Given the description of an element on the screen output the (x, y) to click on. 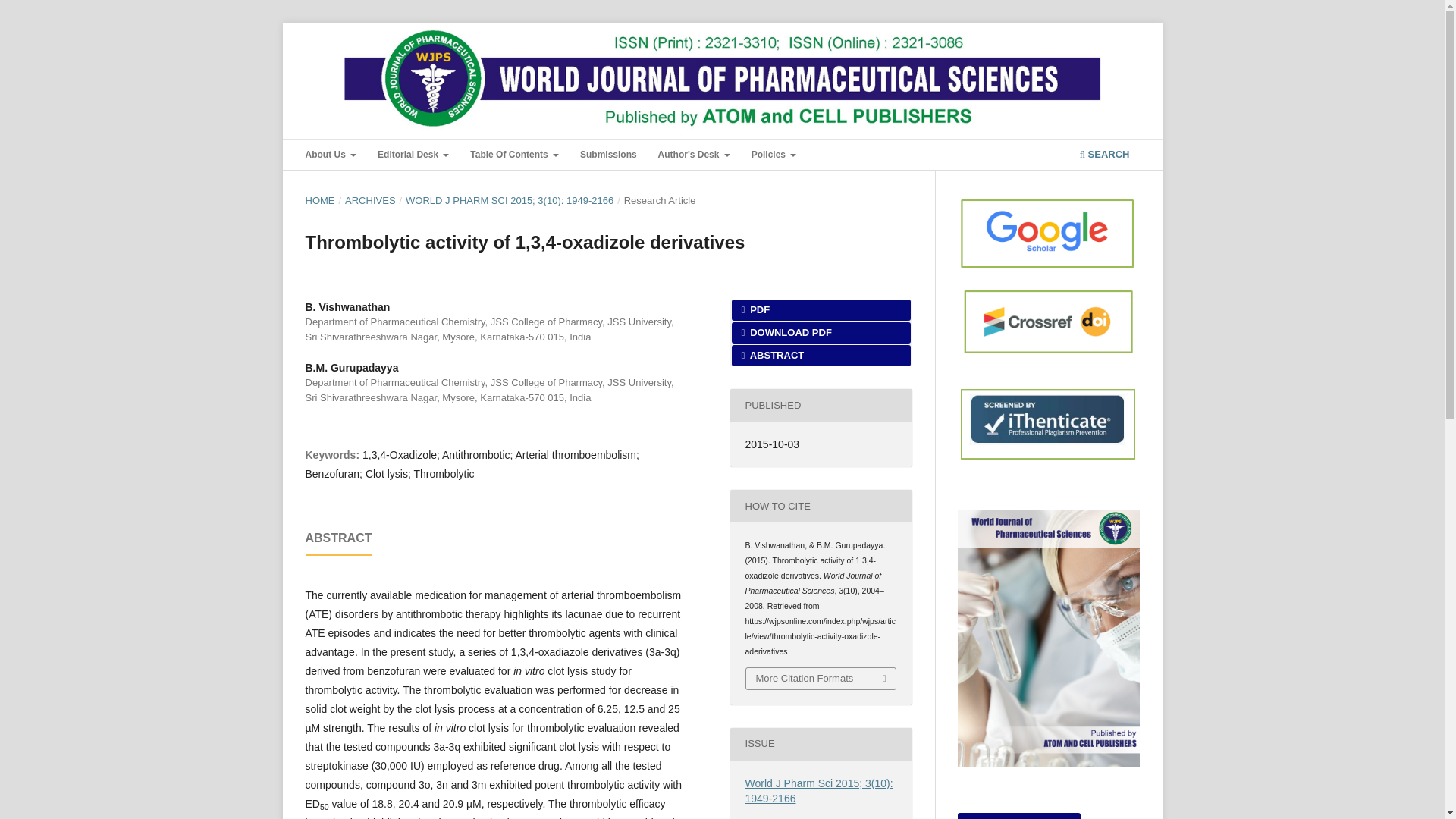
About Us (330, 156)
SEARCH (1104, 156)
Policies (774, 156)
Editorial Desk (412, 156)
Table Of Contents (514, 156)
Submissions (608, 156)
ARCHIVES (370, 200)
PDF (820, 310)
Author'S Desk (694, 156)
DOWNLOAD PDF (820, 332)
HOME (319, 200)
